Given the description of an element on the screen output the (x, y) to click on. 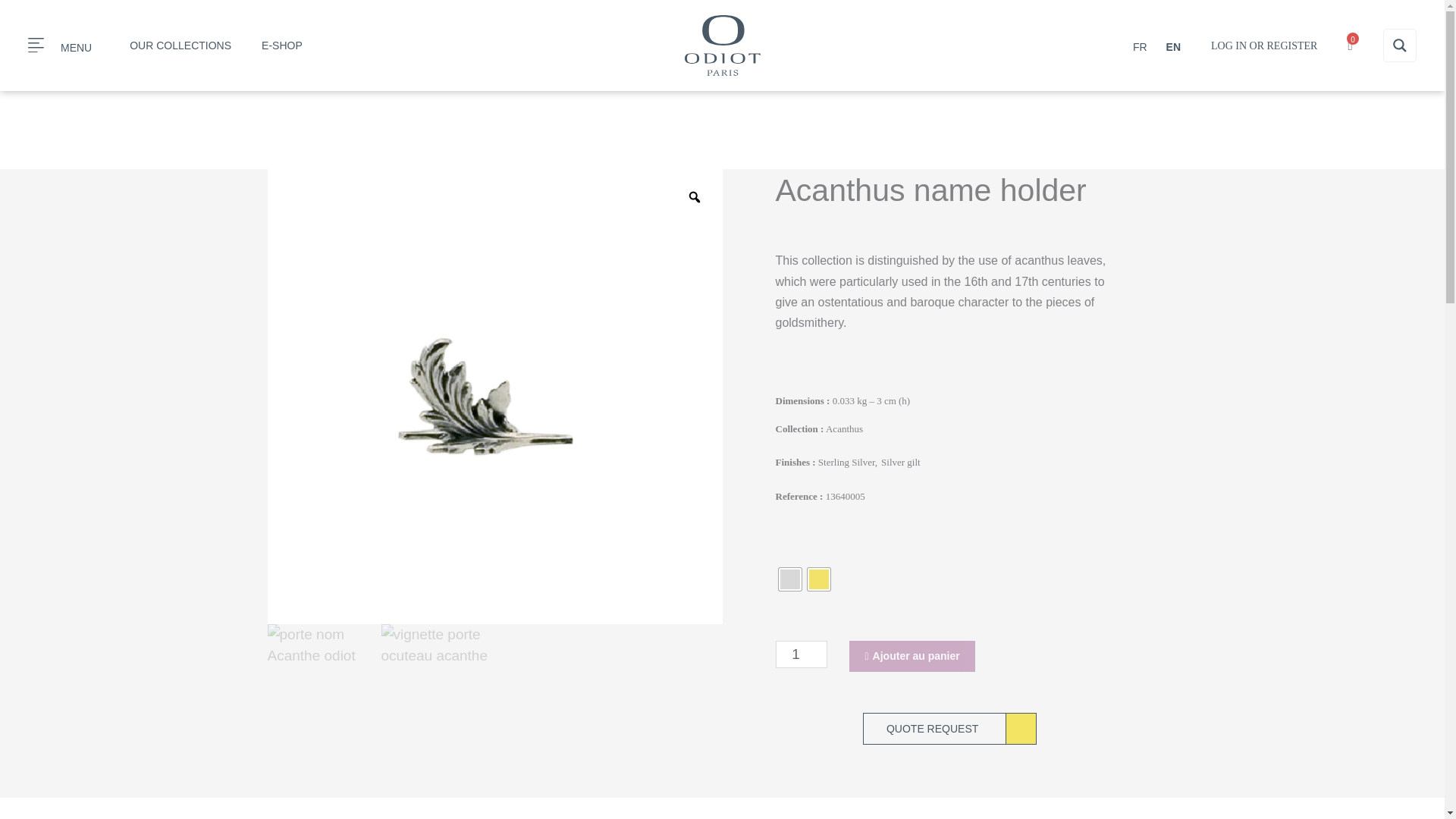
1 (800, 653)
icon-hamburger menuCreated with Sketch. (35, 44)
vignette-porte-ocuteau-acanthe (437, 644)
EN (1169, 46)
Silver gilt (817, 579)
OUR COLLECTIONS (180, 45)
Sterling Silver (59, 48)
FR (788, 579)
